Given the description of an element on the screen output the (x, y) to click on. 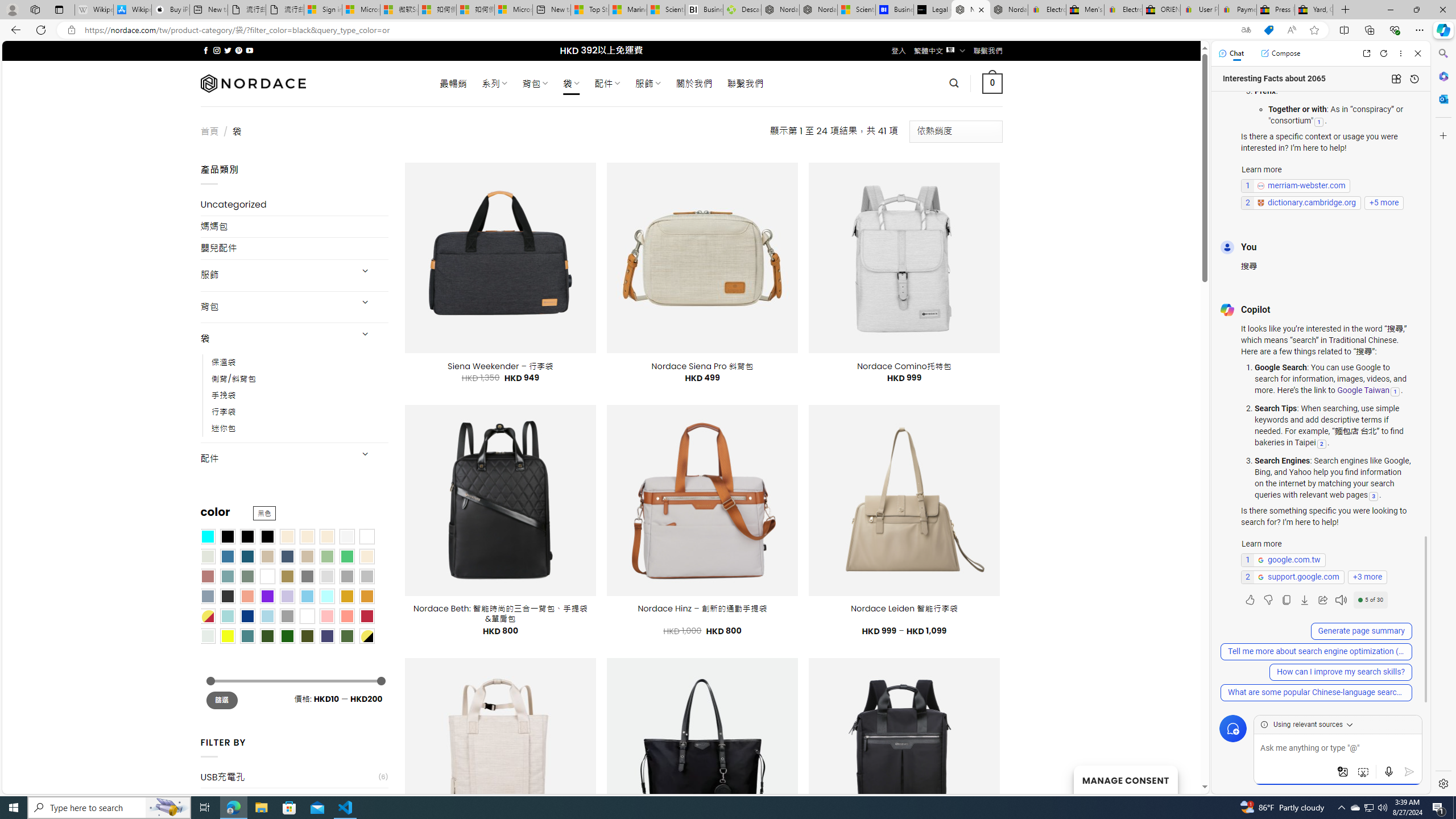
Microsoft account | Account Checkup (513, 9)
